Given the description of an element on the screen output the (x, y) to click on. 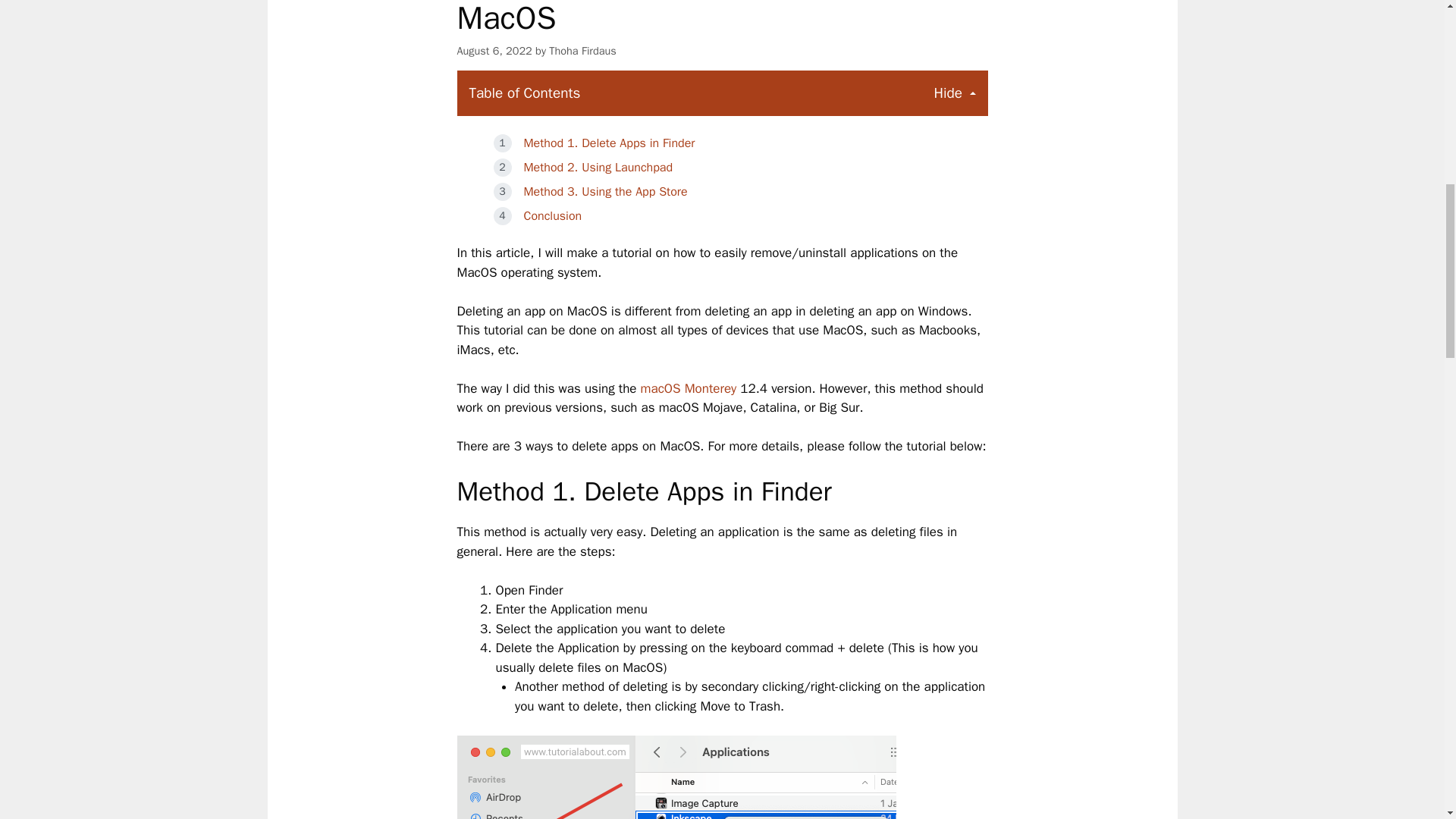
Method 2. Using Launchpad (597, 167)
macOS Monterey (688, 388)
Conclusion (551, 215)
Method 1. Delete Apps in Finder (608, 142)
Thoha Firdaus (581, 50)
View all posts by Thoha Firdaus (581, 50)
Method 3. Using the App Store (604, 191)
